Given the description of an element on the screen output the (x, y) to click on. 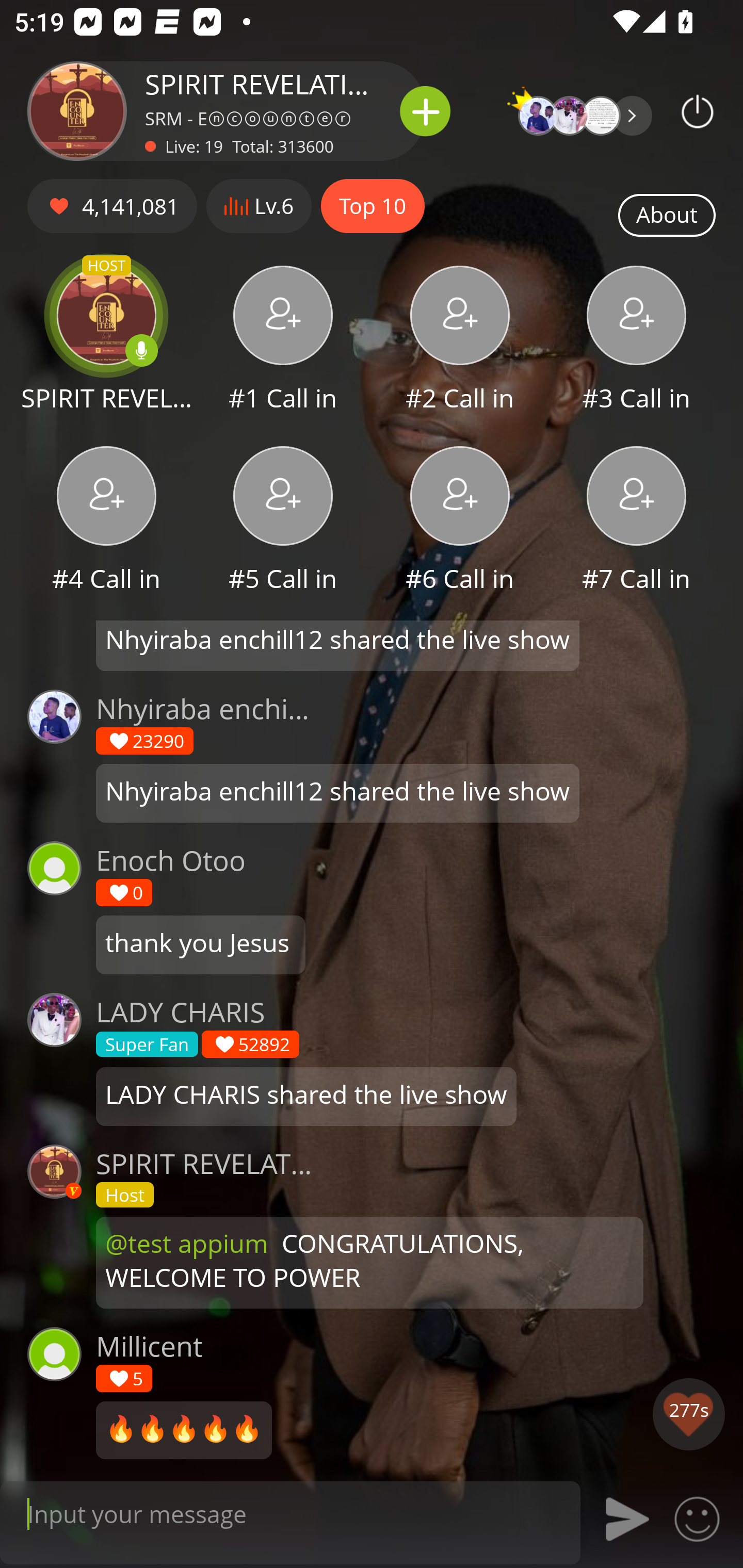
Podbean (697, 111)
About (666, 215)
HOST SPIRIT REVELATION MINISTRIES (105, 340)
#1 Call in (282, 340)
#2 Call in (459, 340)
#3 Call in (636, 340)
#4 Call in (105, 521)
#5 Call in (282, 521)
#6 Call in (459, 521)
#7 Call in (636, 521)
Input your message (289, 1513)
